Given the description of an element on the screen output the (x, y) to click on. 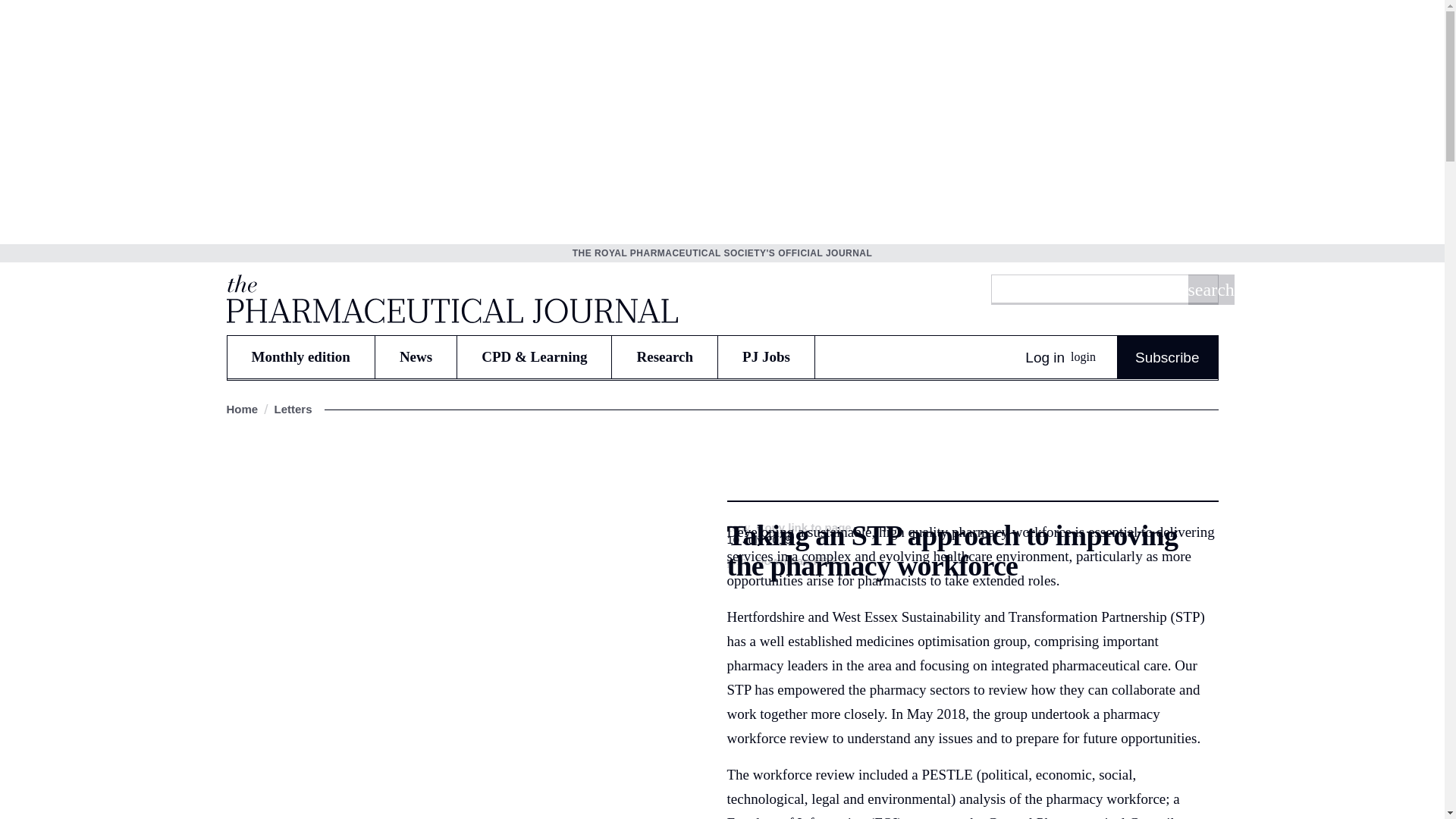
Monthly edition (300, 356)
The Pharmaceutical Journal (451, 298)
Search (1210, 289)
News (416, 356)
